Given the description of an element on the screen output the (x, y) to click on. 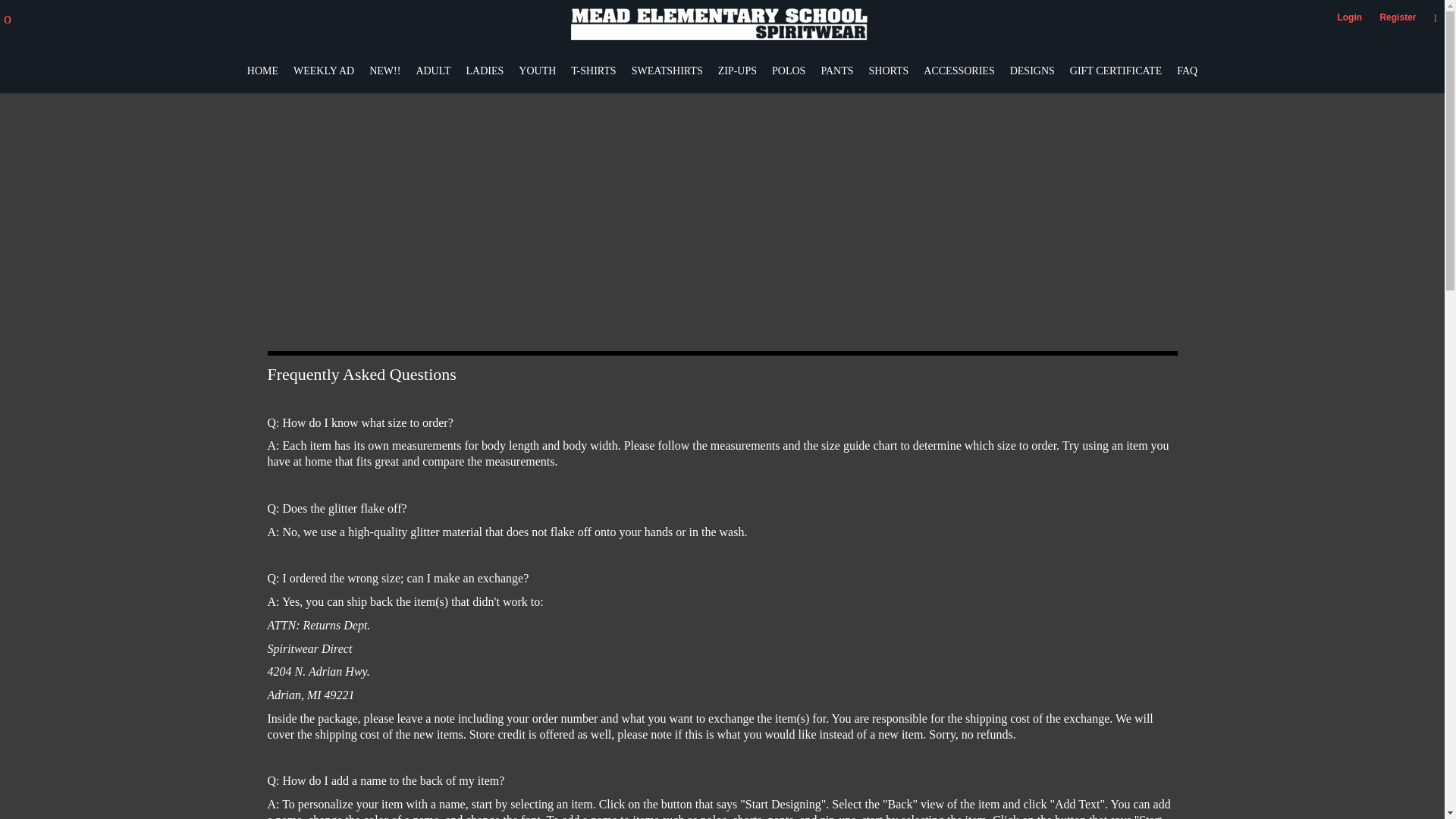
POLOS (788, 70)
NEW!! (384, 70)
ADULT (431, 70)
YOUTH (537, 70)
WEEKLY AD (323, 70)
DESIGNS (1032, 70)
HOME (262, 70)
SHORTS (887, 70)
LADIES (484, 70)
PANTS (837, 70)
ACCESSORIES (958, 70)
Login (1348, 17)
Register (1396, 17)
T-SHIRTS (592, 70)
FAQ (1186, 70)
